Given the description of an element on the screen output the (x, y) to click on. 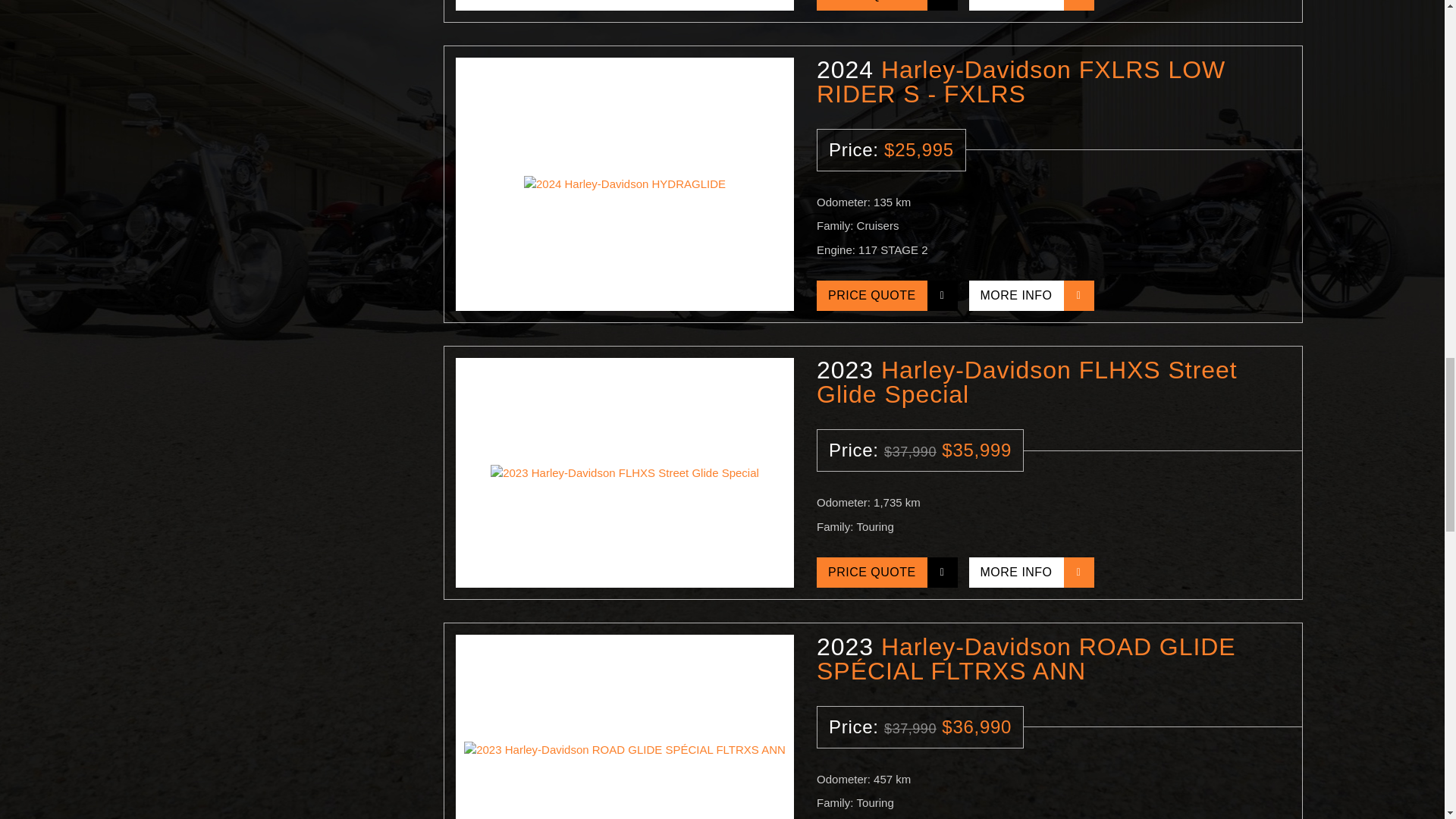
2024 Harley-Davidson HYDRAGLIDE (624, 5)
2024 Harley-Davidson HYDRAGLIDE (624, 184)
2023 Harley-Davidson FLHXS Street Glide Special (624, 472)
